Given the description of an element on the screen output the (x, y) to click on. 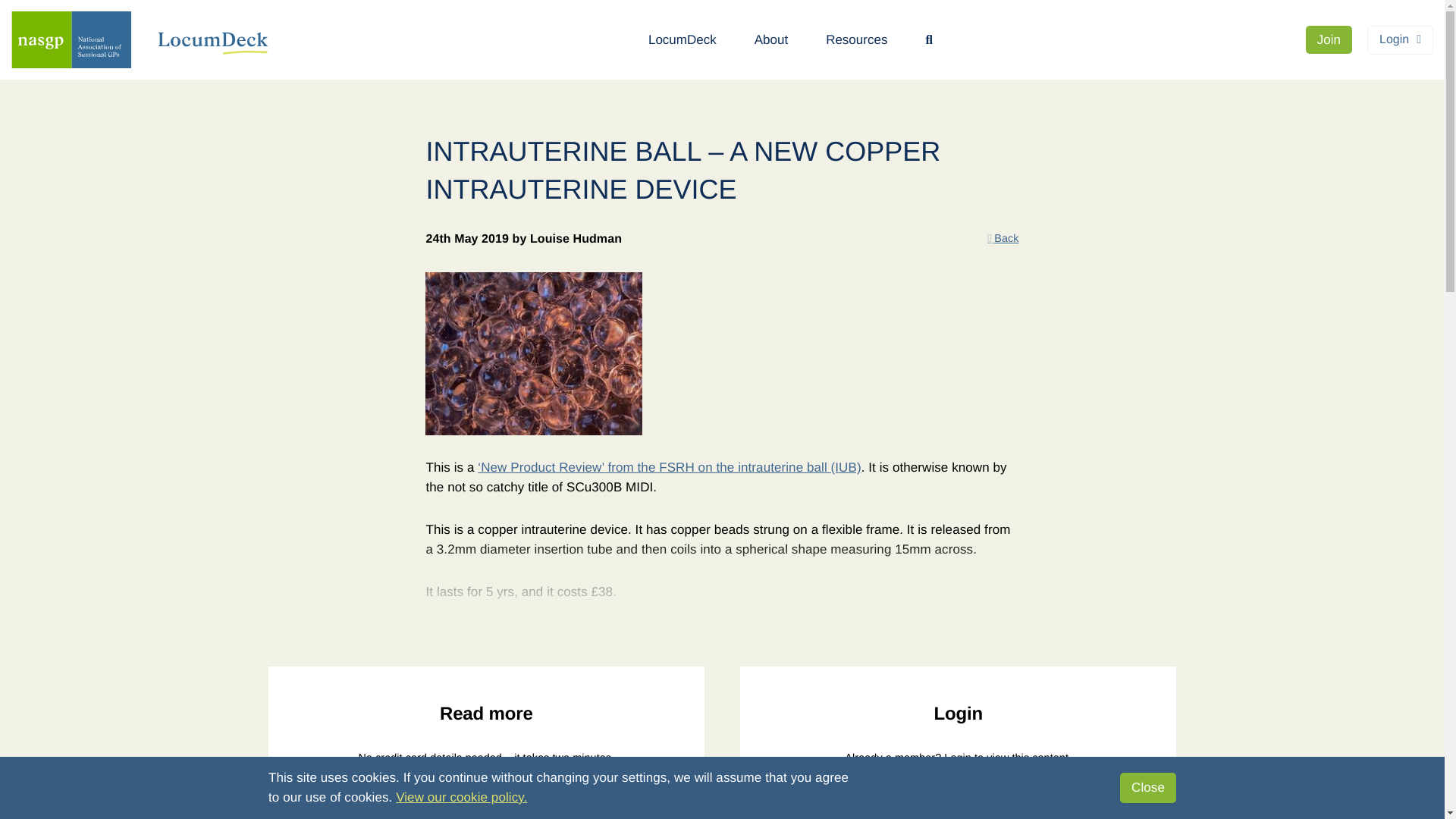
Join (1329, 39)
LocumDeck (682, 39)
Login (1399, 39)
Resources (855, 39)
About (770, 39)
